Given the description of an element on the screen output the (x, y) to click on. 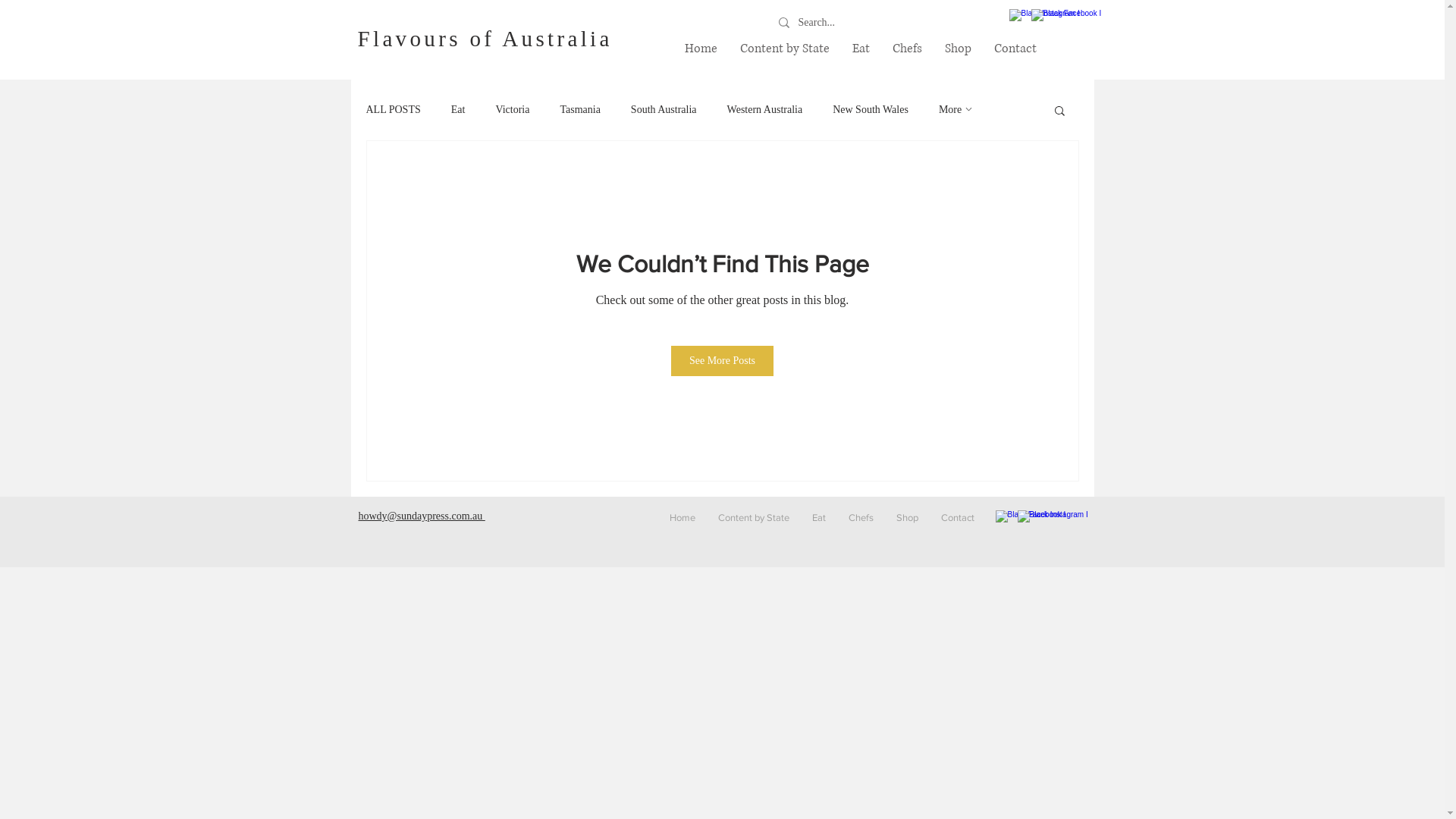
Contact Element type: text (957, 517)
See More Posts Element type: text (722, 360)
ALL POSTS Element type: text (392, 109)
Contact Element type: text (1015, 48)
South Australia Element type: text (663, 109)
Eat Element type: text (458, 109)
Tasmania Element type: text (579, 109)
howdy@sundaypress.com.au  Element type: text (420, 515)
Eat Element type: text (860, 48)
Home Element type: text (682, 517)
Victoria Element type: text (512, 109)
Western Australia Element type: text (765, 109)
Eat Element type: text (818, 517)
Home Element type: text (700, 48)
Flavours of Australia Element type: text (484, 38)
Chefs Element type: text (907, 48)
Shop Element type: text (906, 517)
Shop Element type: text (957, 48)
Chefs Element type: text (860, 517)
New South Wales Element type: text (870, 109)
